Given the description of an element on the screen output the (x, y) to click on. 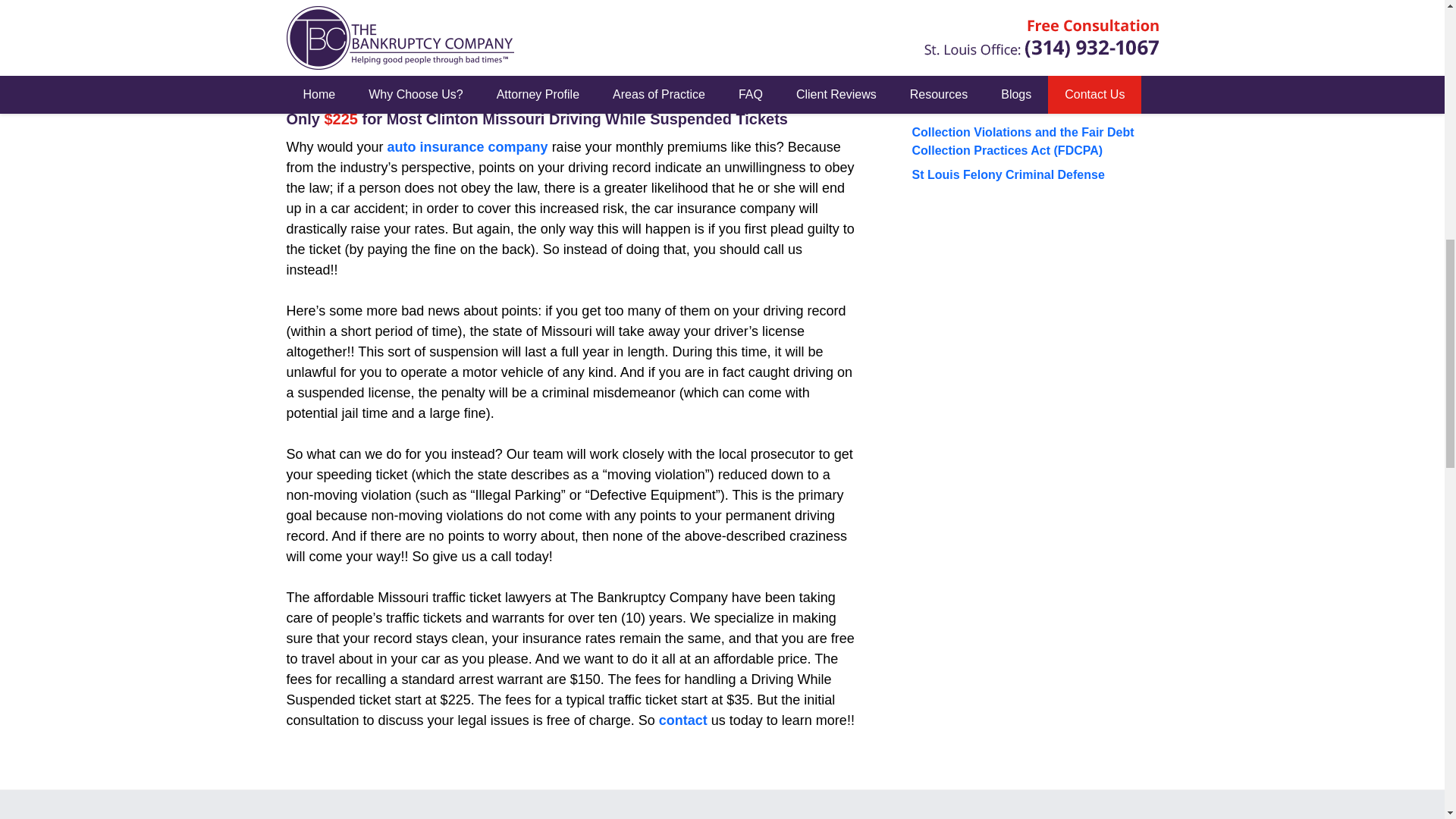
St. Louis Foreclosure Defense (998, 2)
contact (683, 720)
points on your permanent driving record (565, 25)
auto insurance company (467, 146)
St. Louis Bankruptcy (971, 22)
